Given the description of an element on the screen output the (x, y) to click on. 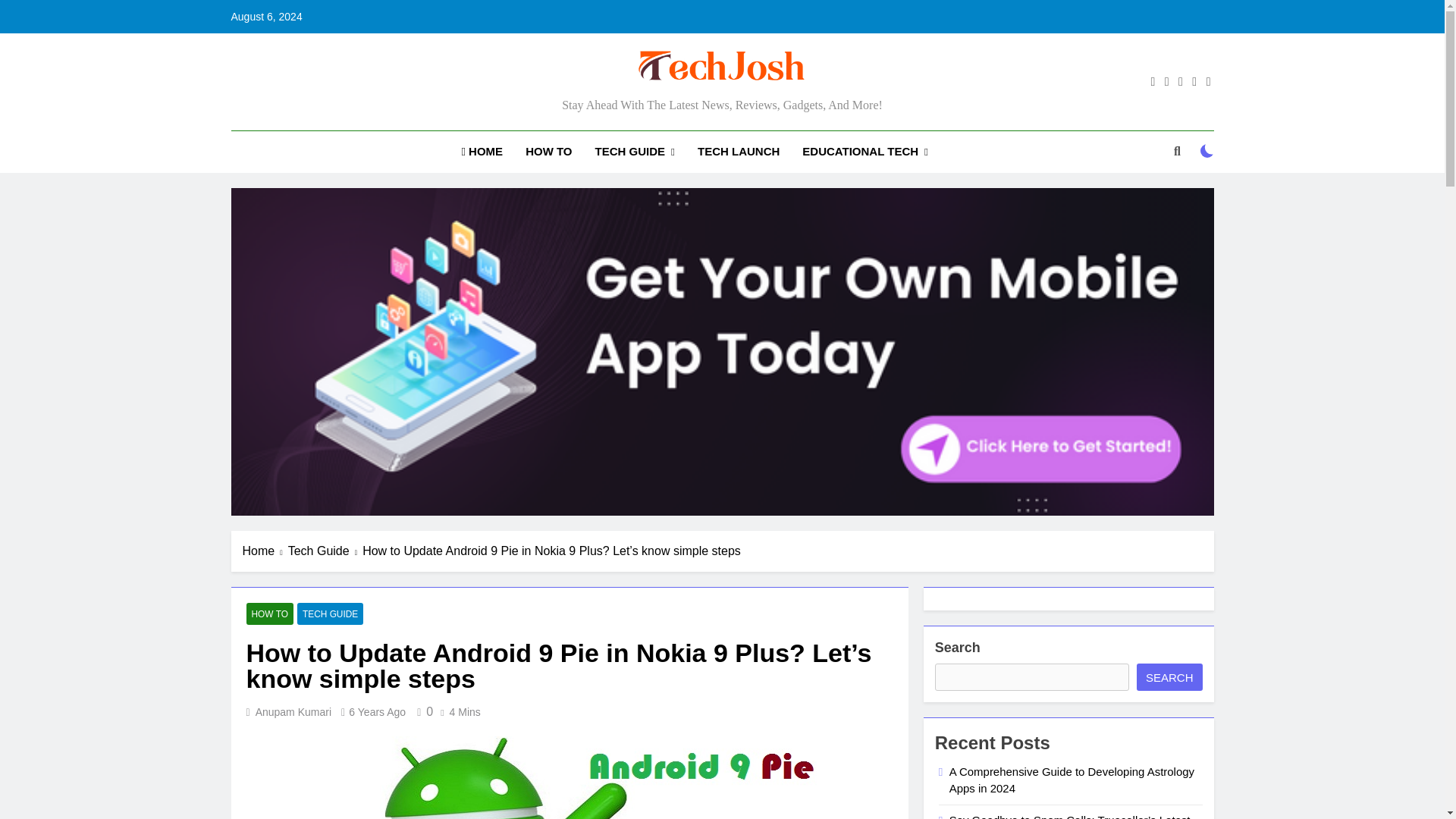
EDUCATIONAL TECH (864, 151)
HOME (481, 151)
Tech Guide (325, 551)
TechJosh (547, 105)
TECH GUIDE (634, 151)
on (1206, 151)
HOW TO (548, 151)
Home (265, 551)
TECH LAUNCH (737, 151)
